Given the description of an element on the screen output the (x, y) to click on. 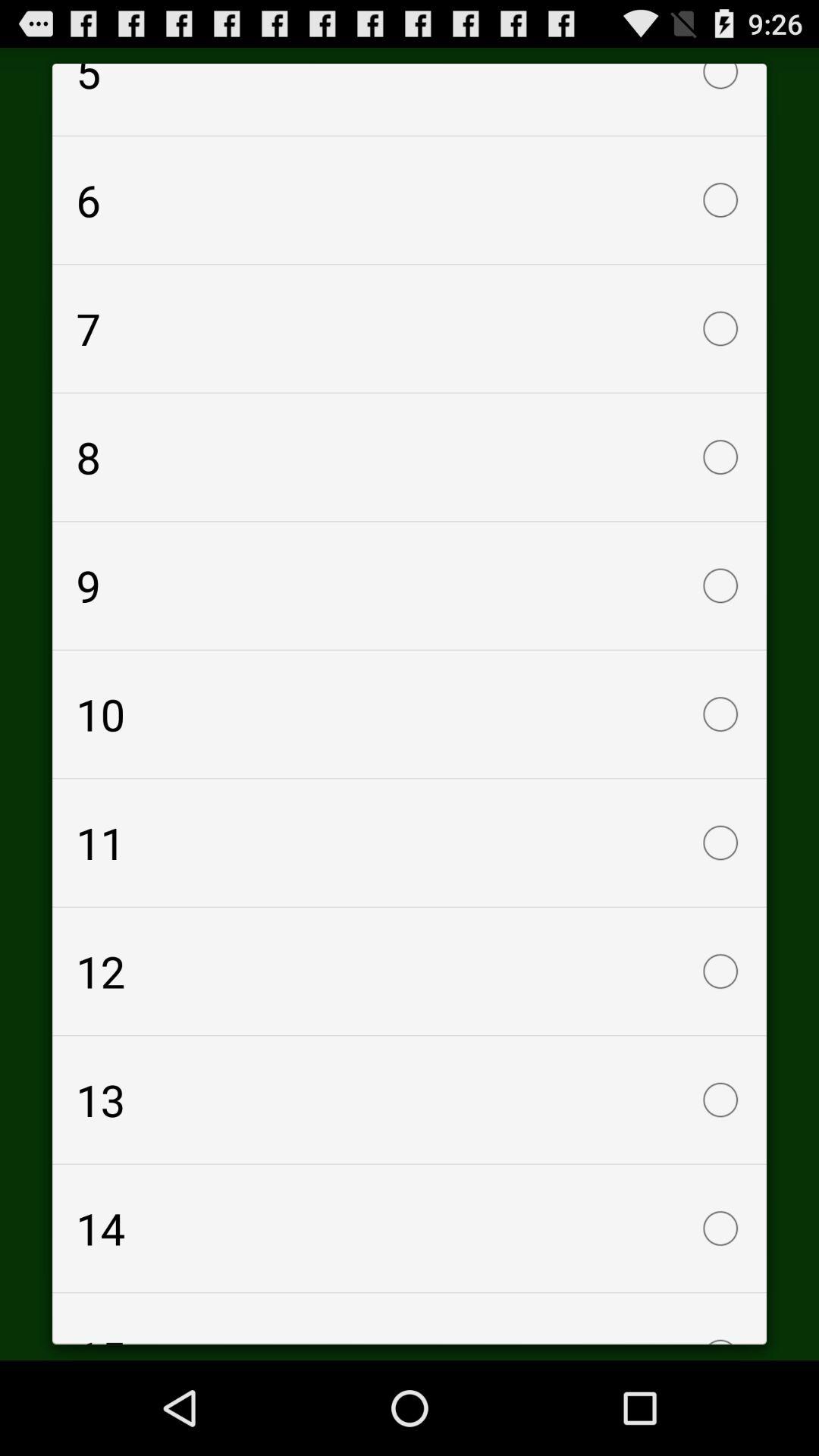
swipe to 14 (409, 1228)
